Given the description of an element on the screen output the (x, y) to click on. 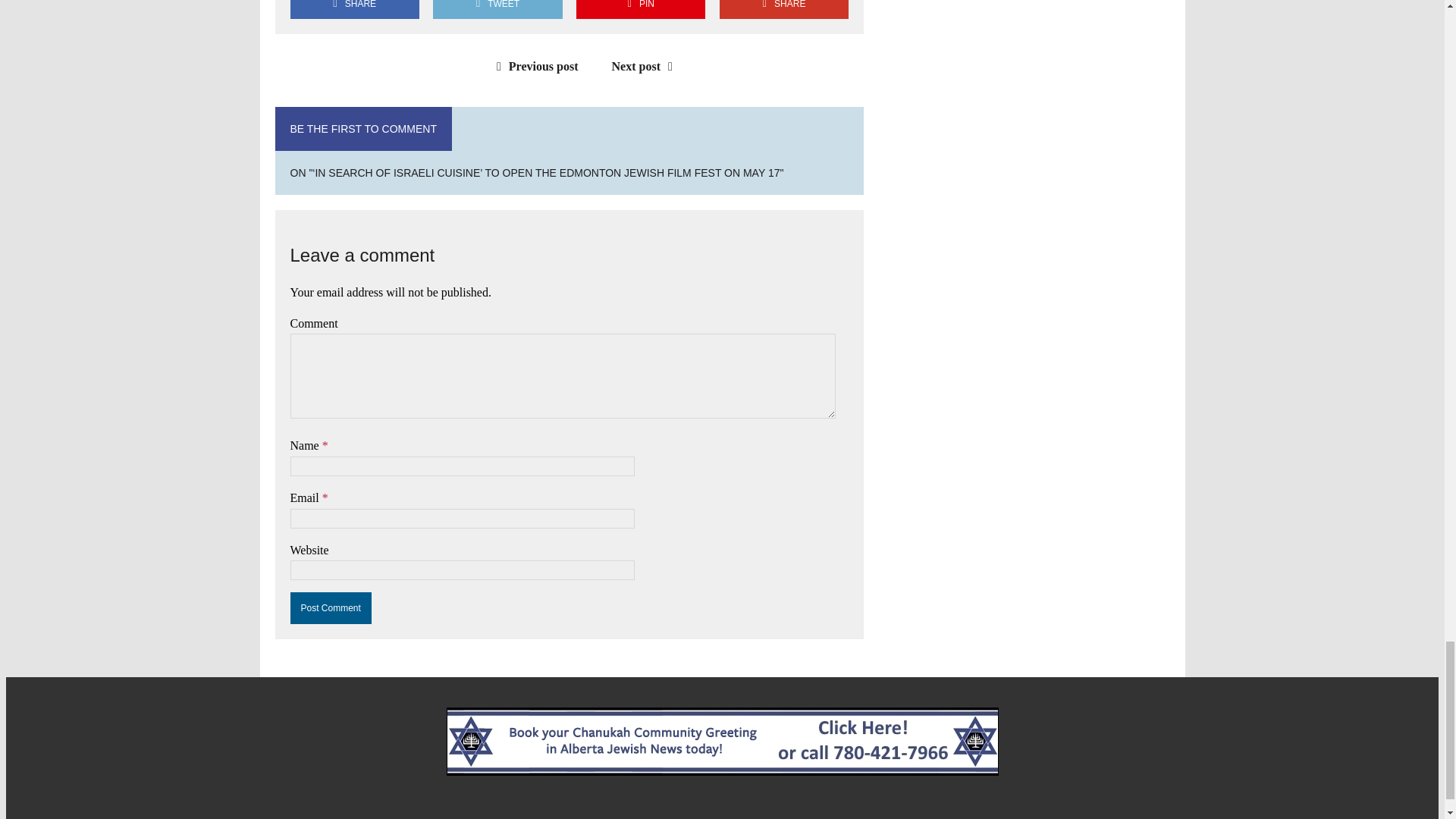
Tweet This Post (497, 9)
Pin This Post (640, 9)
Share on Facebook (354, 9)
Post Comment (330, 608)
